Given the description of an element on the screen output the (x, y) to click on. 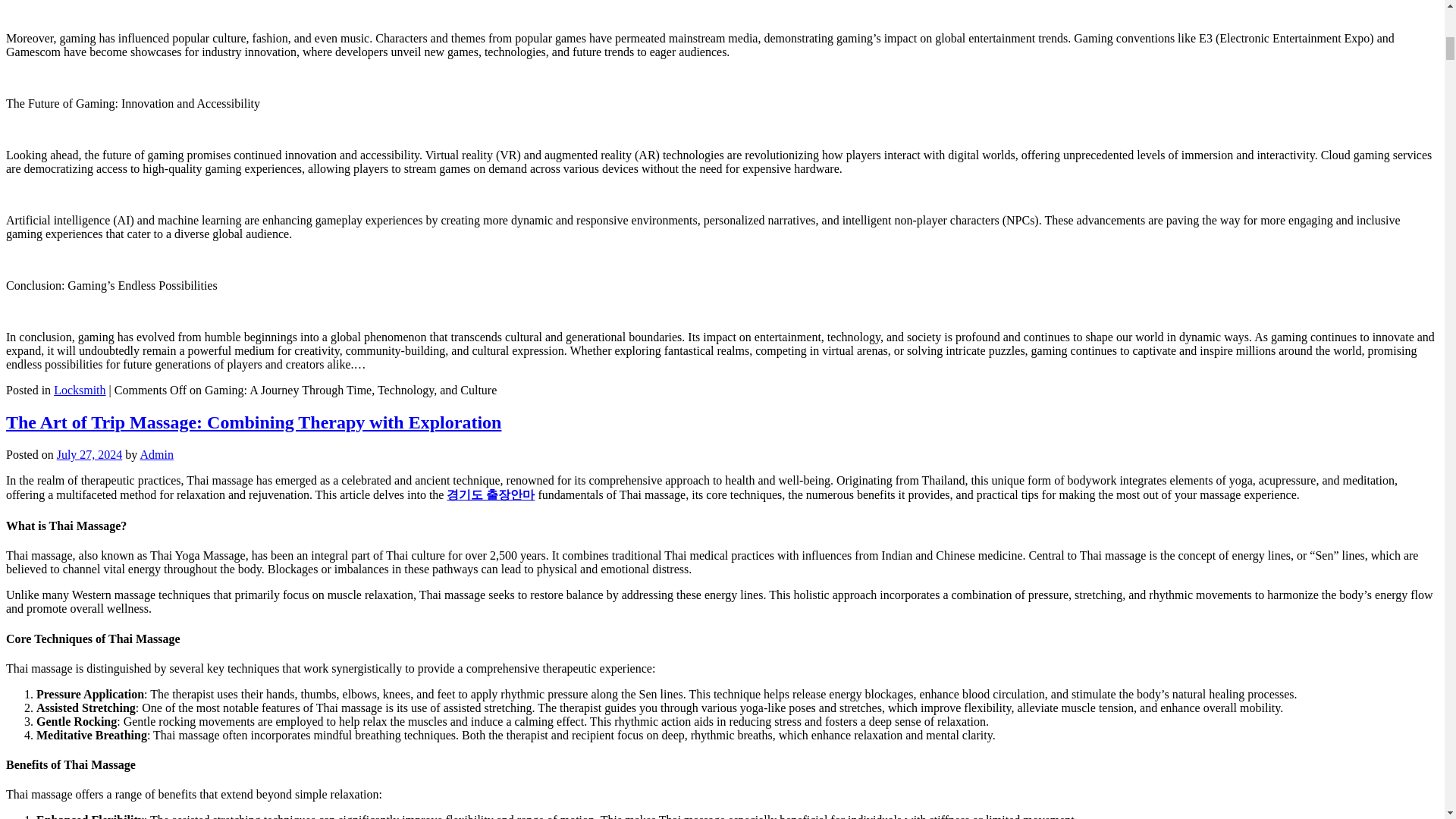
Locksmith (78, 390)
The Art of Trip Massage: Combining Therapy with Exploration (252, 422)
View all posts by Admin (156, 454)
Admin (156, 454)
July 27, 2024 (89, 454)
